Given the description of an element on the screen output the (x, y) to click on. 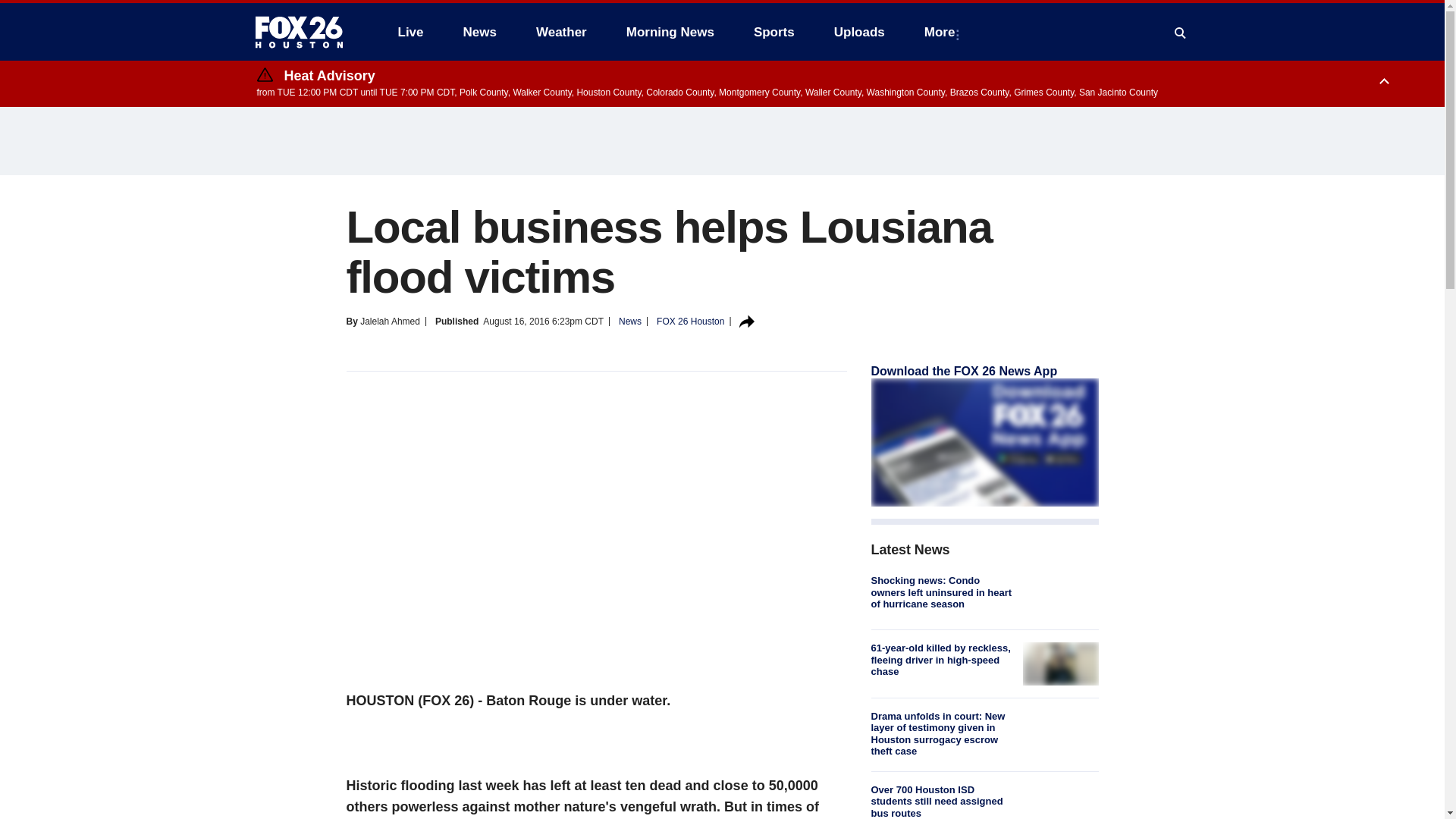
Live (410, 32)
Sports (773, 32)
Weather (561, 32)
More (943, 32)
Uploads (859, 32)
News (479, 32)
Morning News (670, 32)
